Given the description of an element on the screen output the (x, y) to click on. 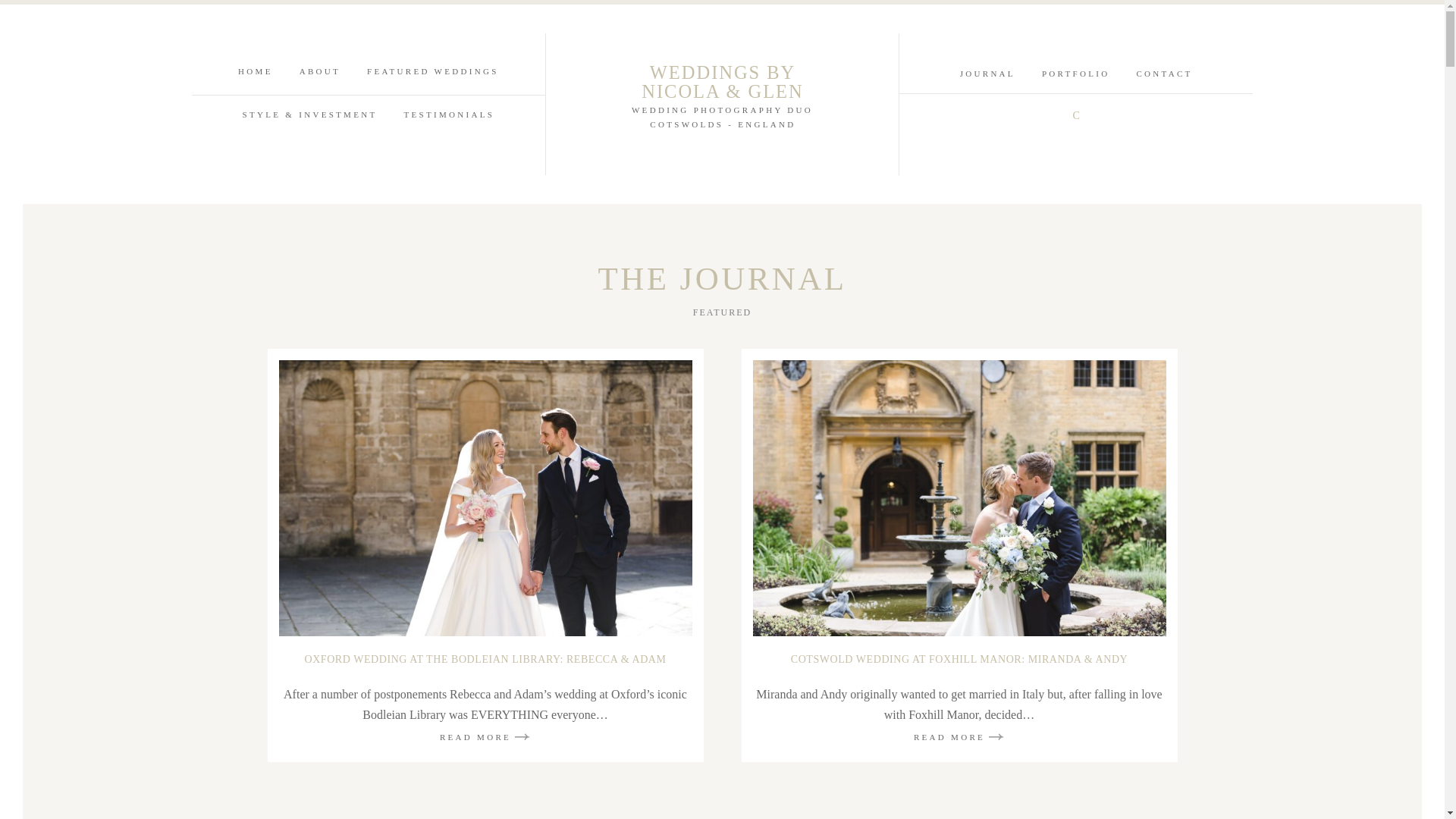
PORTFOLIO (1075, 72)
FEATURED WEDDINGS (432, 71)
ABOUT (319, 71)
READ MORE (958, 735)
TESTIMONIALS (449, 113)
CONTACT (1163, 72)
HOME (255, 71)
C (1075, 115)
READ MORE (485, 735)
JOURNAL (986, 72)
